Given the description of an element on the screen output the (x, y) to click on. 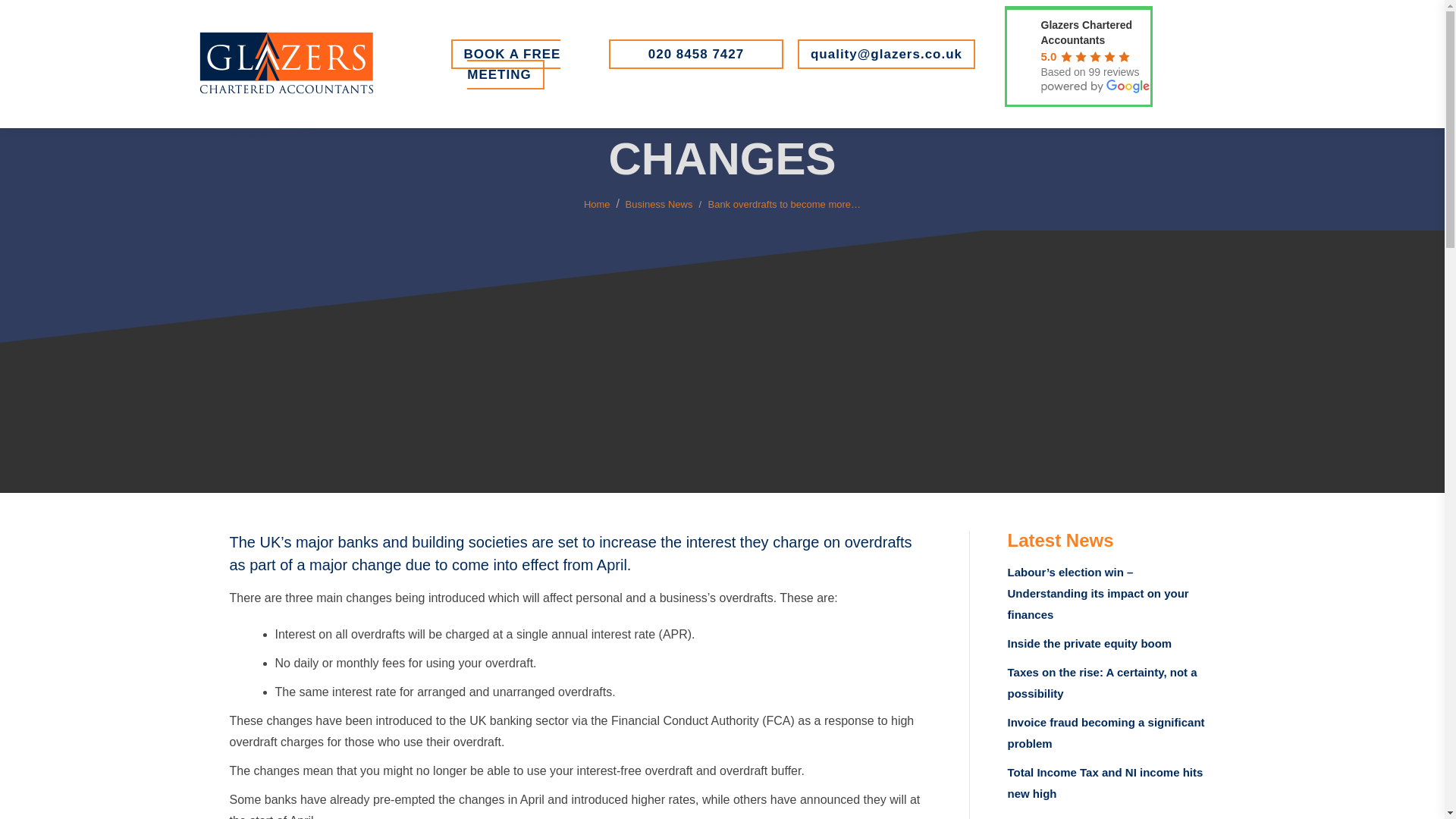
powered by Google (1095, 86)
Book a free meeting (505, 64)
TEL: 02084587427 (695, 53)
